Given the description of an element on the screen output the (x, y) to click on. 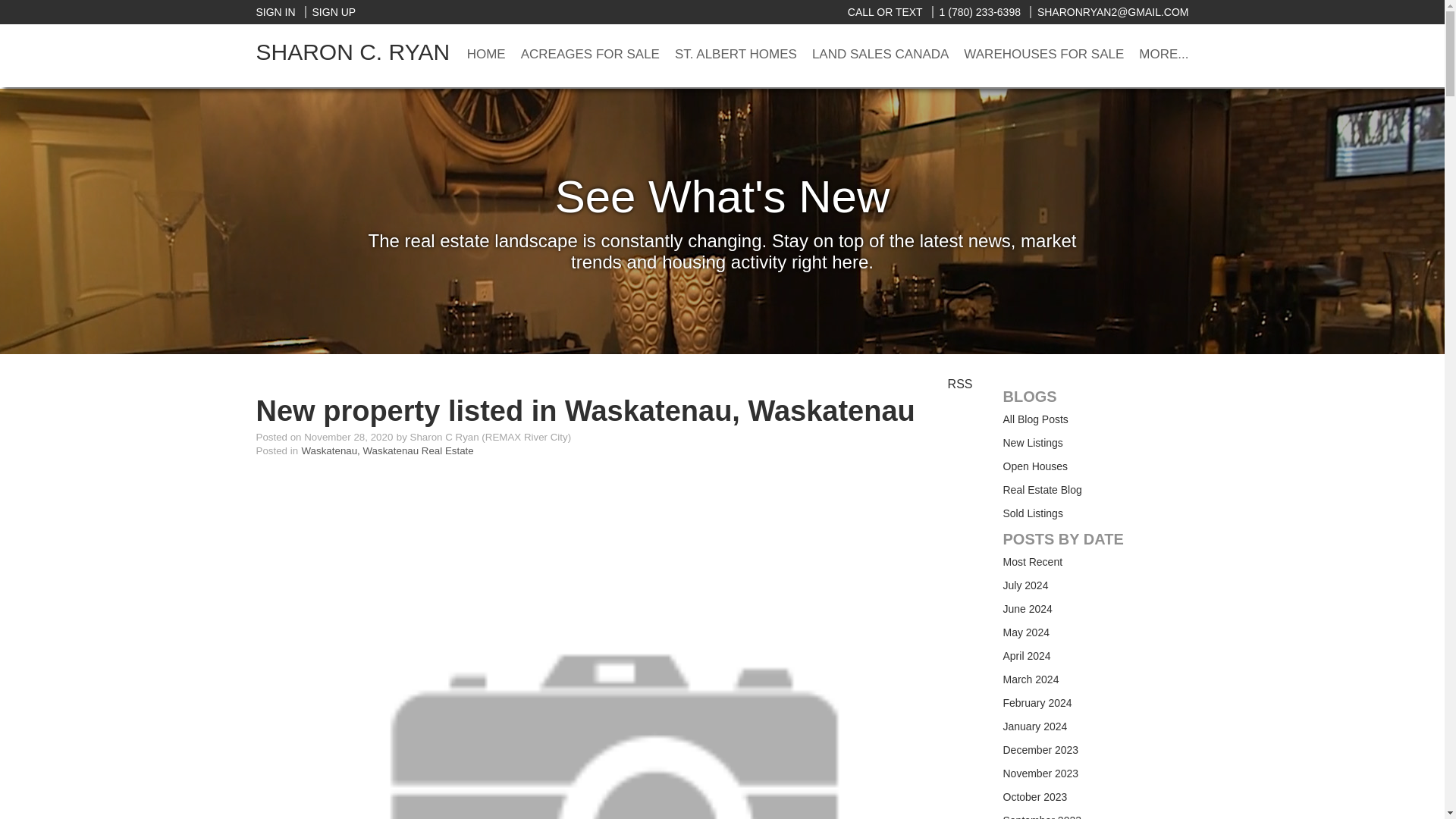
SIGN UP (330, 11)
LAND SALES CANADA (880, 54)
MORE... (1163, 54)
ST. ALBERT HOMES (735, 54)
ACREAGES FOR SALE (589, 54)
WAREHOUSES FOR SALE (1043, 54)
SIGN IN (275, 11)
